Given the description of an element on the screen output the (x, y) to click on. 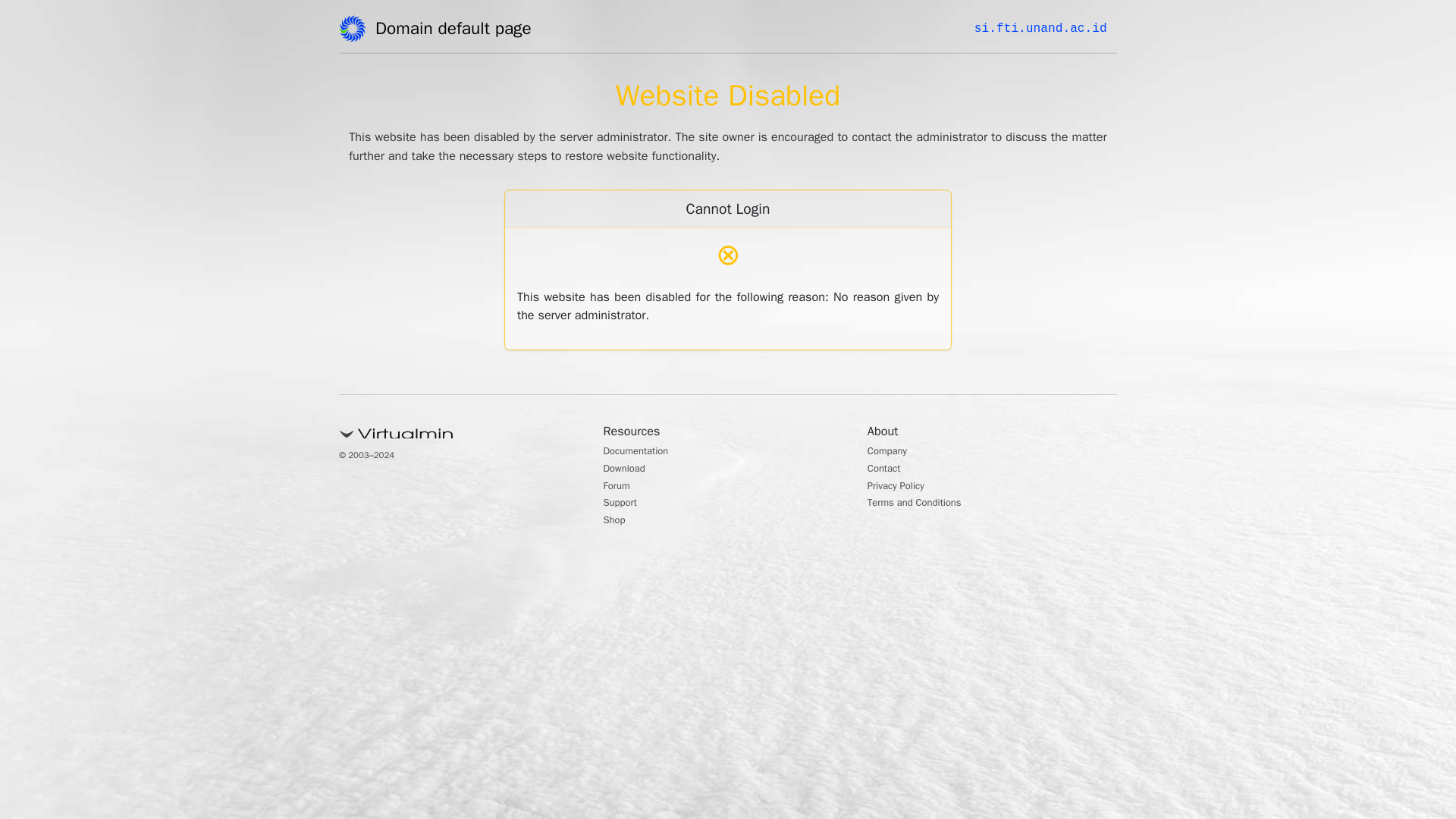
Forum (620, 487)
Domain default page (457, 31)
Company (891, 452)
Shop (617, 521)
Contact (887, 469)
Terms and Conditions (925, 503)
Download (629, 469)
Privacy Policy (902, 487)
Documentation (644, 452)
Support (624, 503)
